Given the description of an element on the screen output the (x, y) to click on. 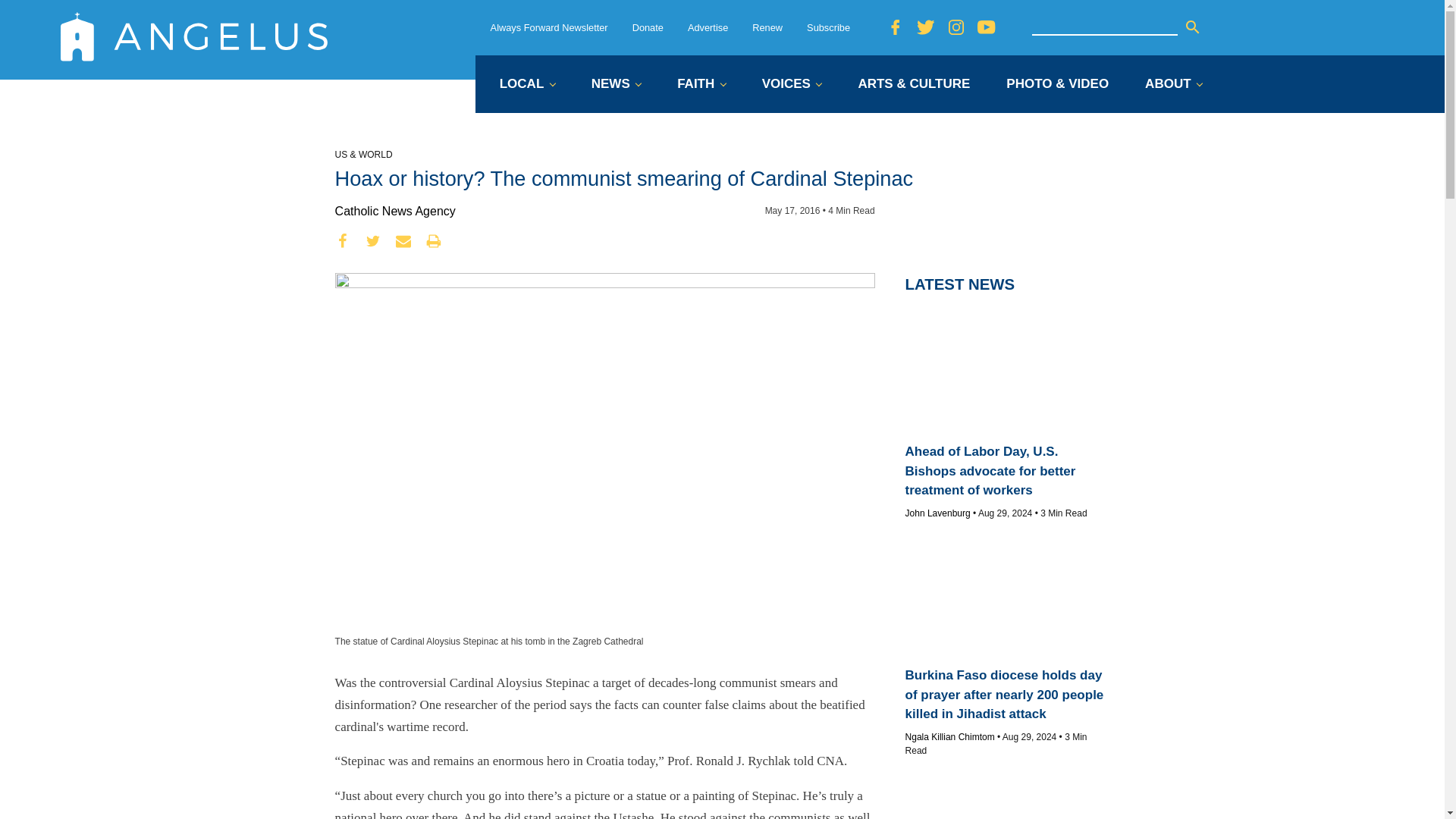
VOICES (791, 84)
print (433, 240)
NEWS (615, 84)
Posts by Catholic News Agency (394, 210)
FAITH (701, 84)
Posts by John Lavenburg (938, 512)
Advertise (707, 27)
facebook (342, 240)
Posts by Ngala Killian Chimtom (949, 737)
envelope (403, 240)
